Given the description of an element on the screen output the (x, y) to click on. 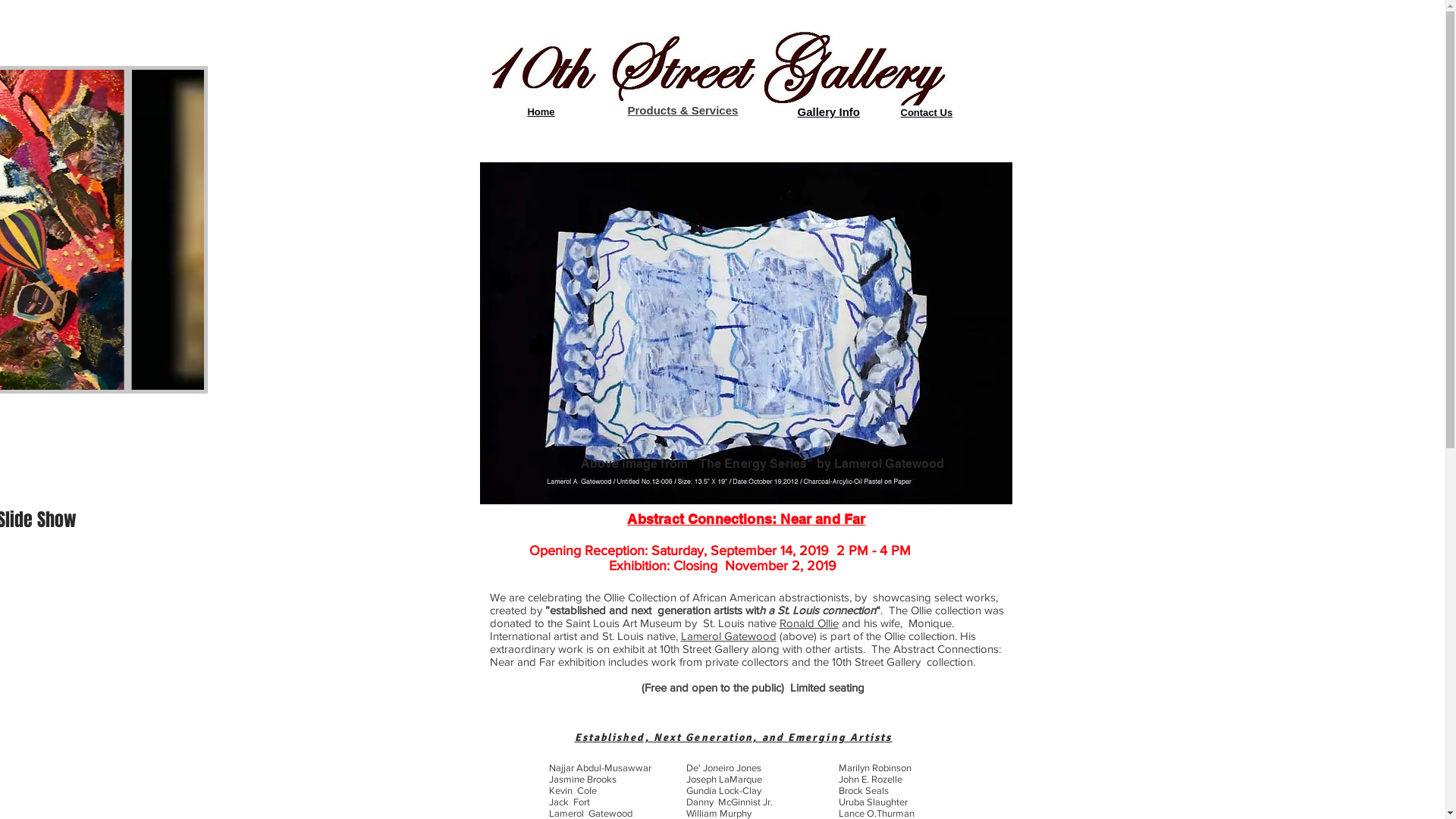
10streetlettering.png Element type: hover (713, 68)
Ronald Ollie Element type: text (808, 622)
Gallery Info Element type: text (828, 111)
Lamerol Gatewood Element type: text (728, 635)
